Given the description of an element on the screen output the (x, y) to click on. 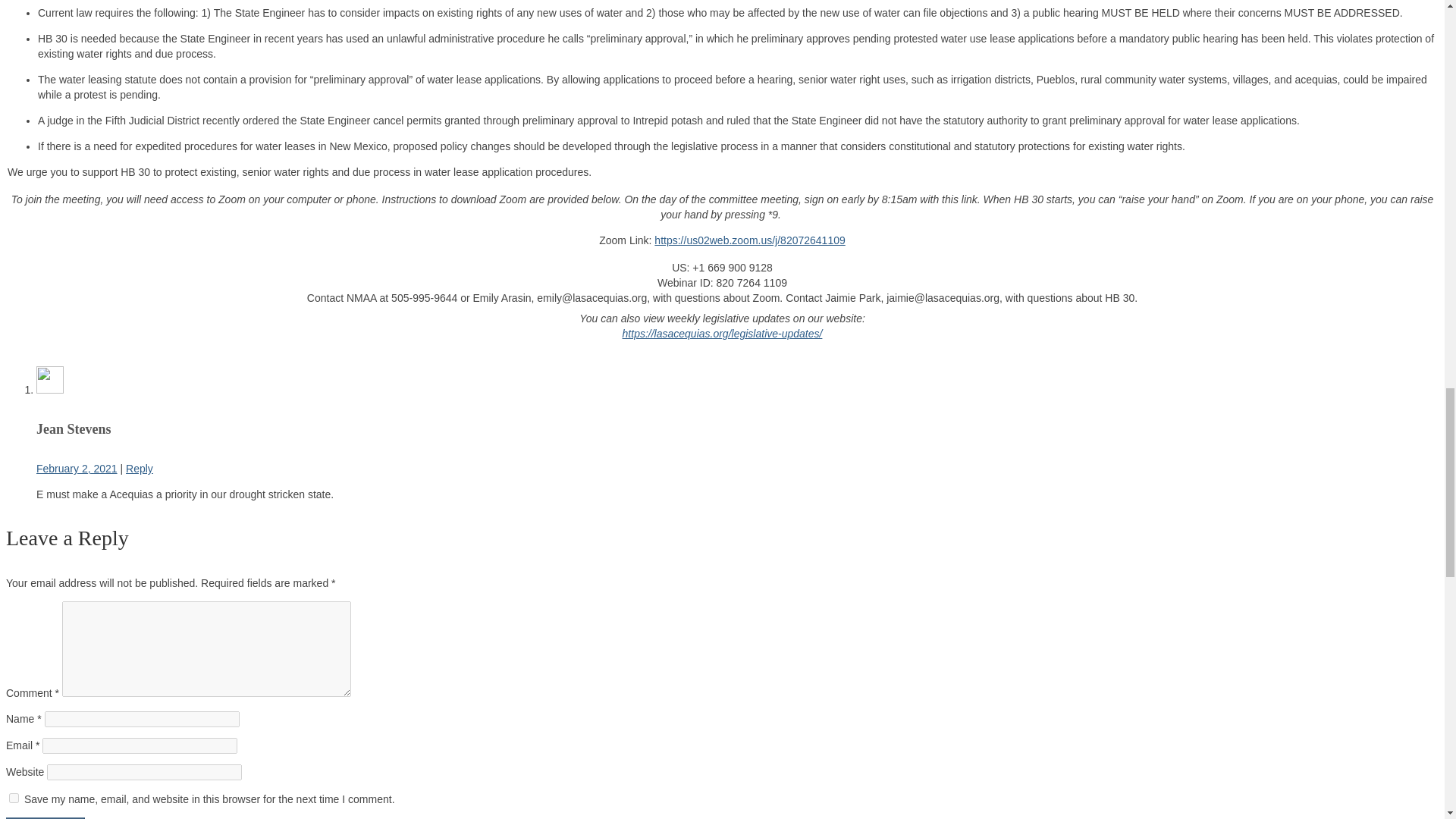
Post Comment (44, 818)
yes (13, 798)
